Given the description of an element on the screen output the (x, y) to click on. 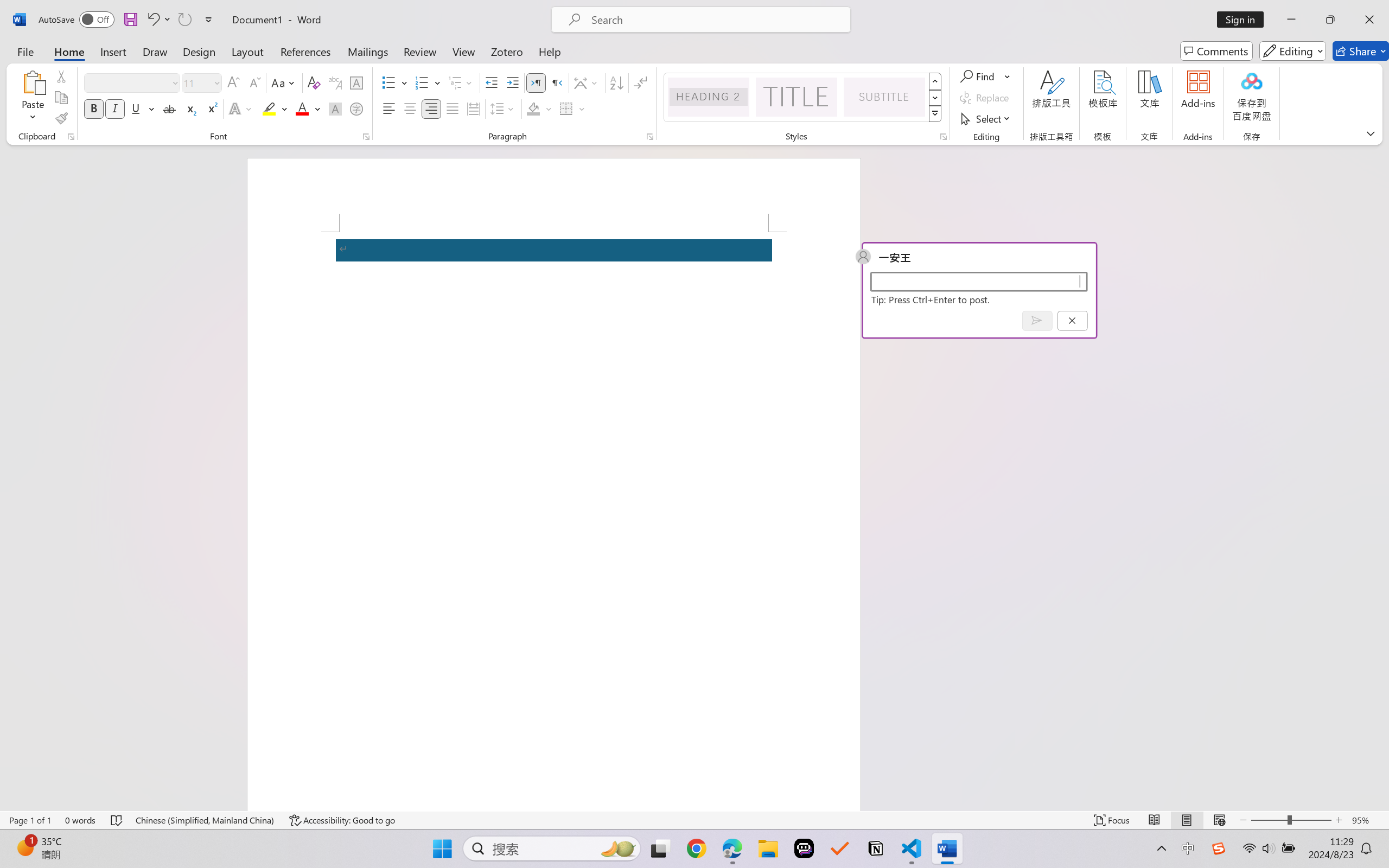
Left-to-Right (535, 82)
